Given the description of an element on the screen output the (x, y) to click on. 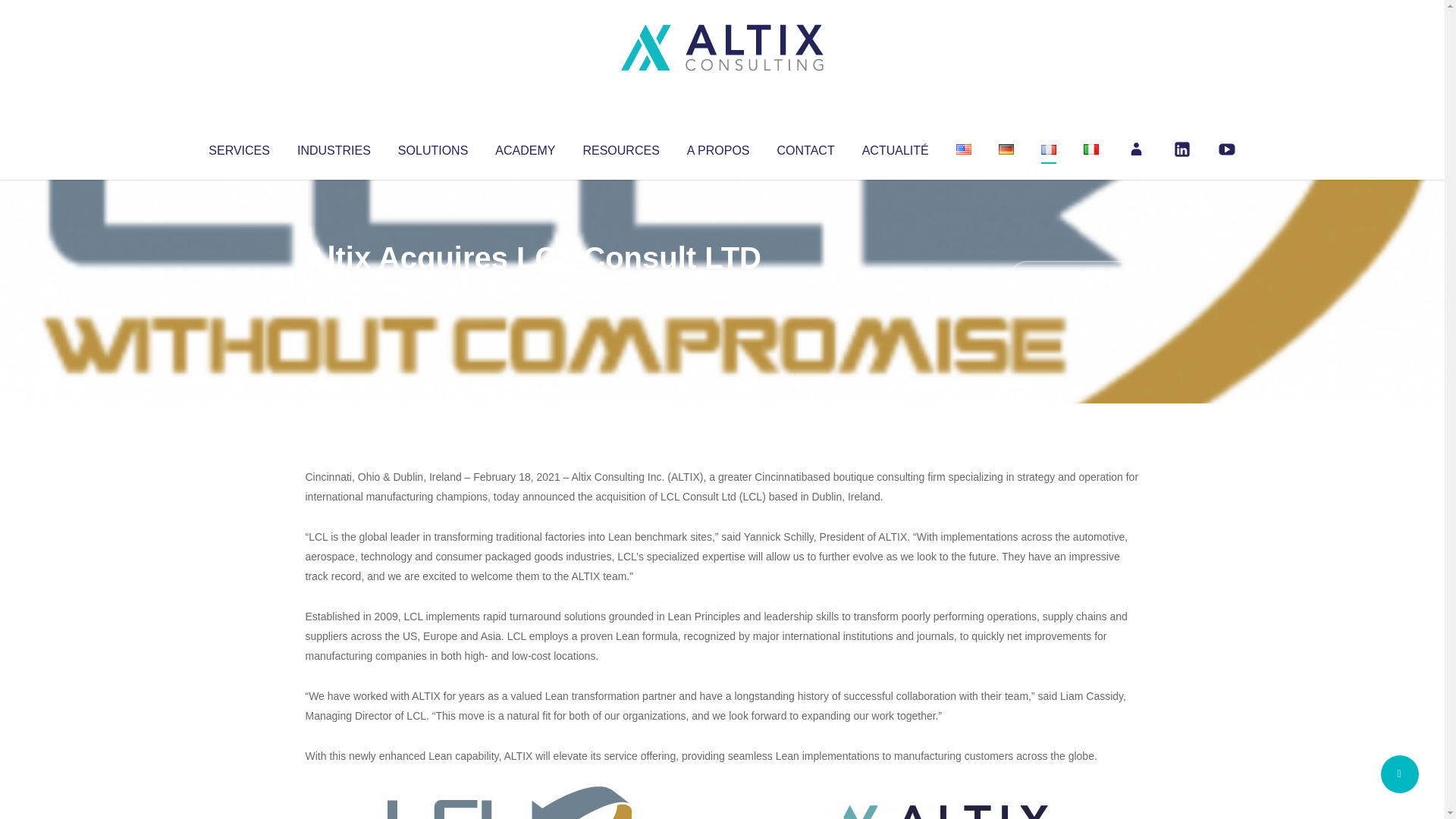
Uncategorized (530, 287)
ACADEMY (524, 146)
Altix (333, 287)
INDUSTRIES (334, 146)
RESOURCES (620, 146)
A PROPOS (718, 146)
SERVICES (238, 146)
Articles par Altix (333, 287)
No Comments (1073, 278)
SOLUTIONS (432, 146)
